Given the description of an element on the screen output the (x, y) to click on. 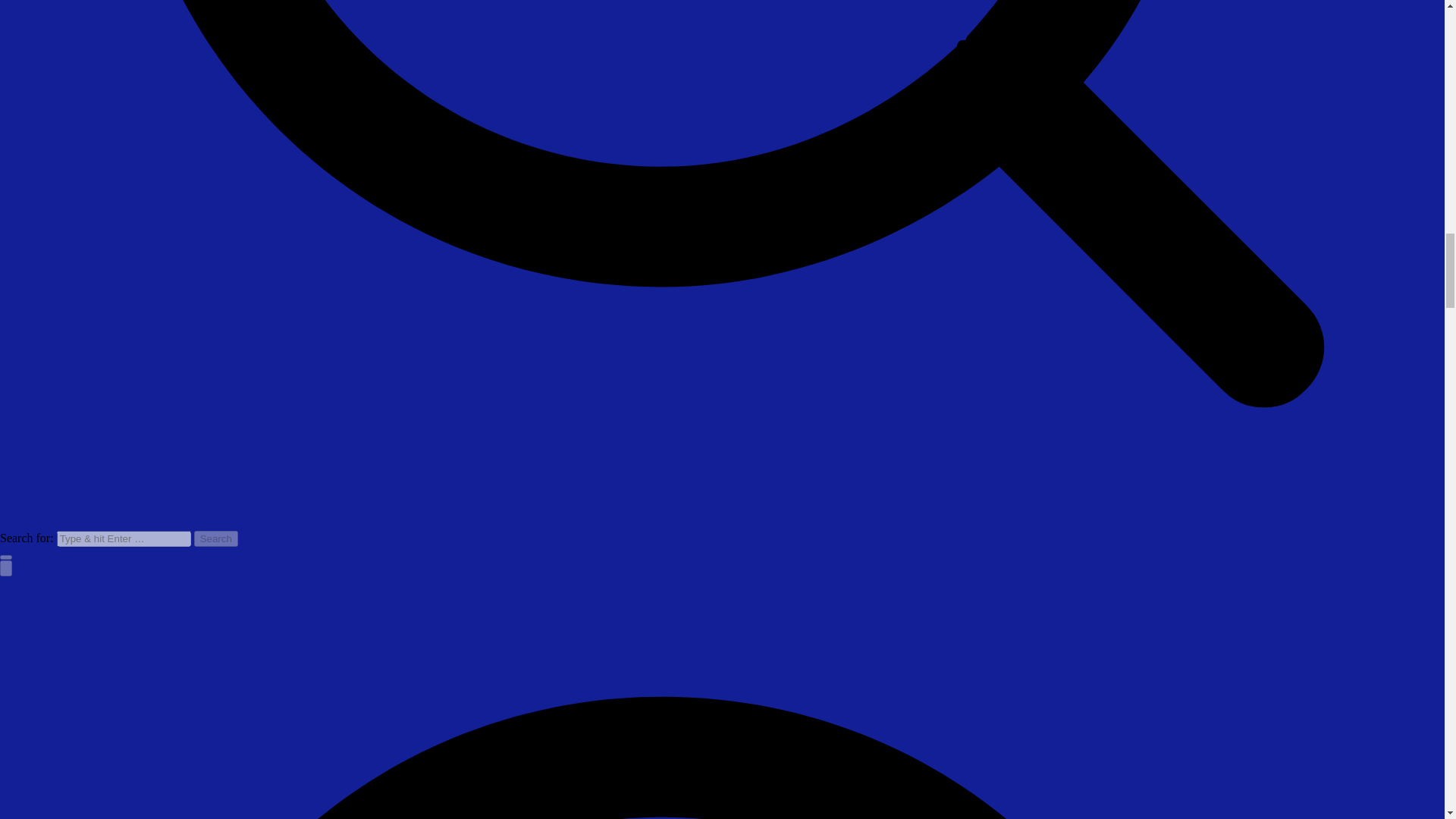
Search (215, 538)
Search (215, 538)
Search (215, 538)
Search for: (123, 538)
